Given the description of an element on the screen output the (x, y) to click on. 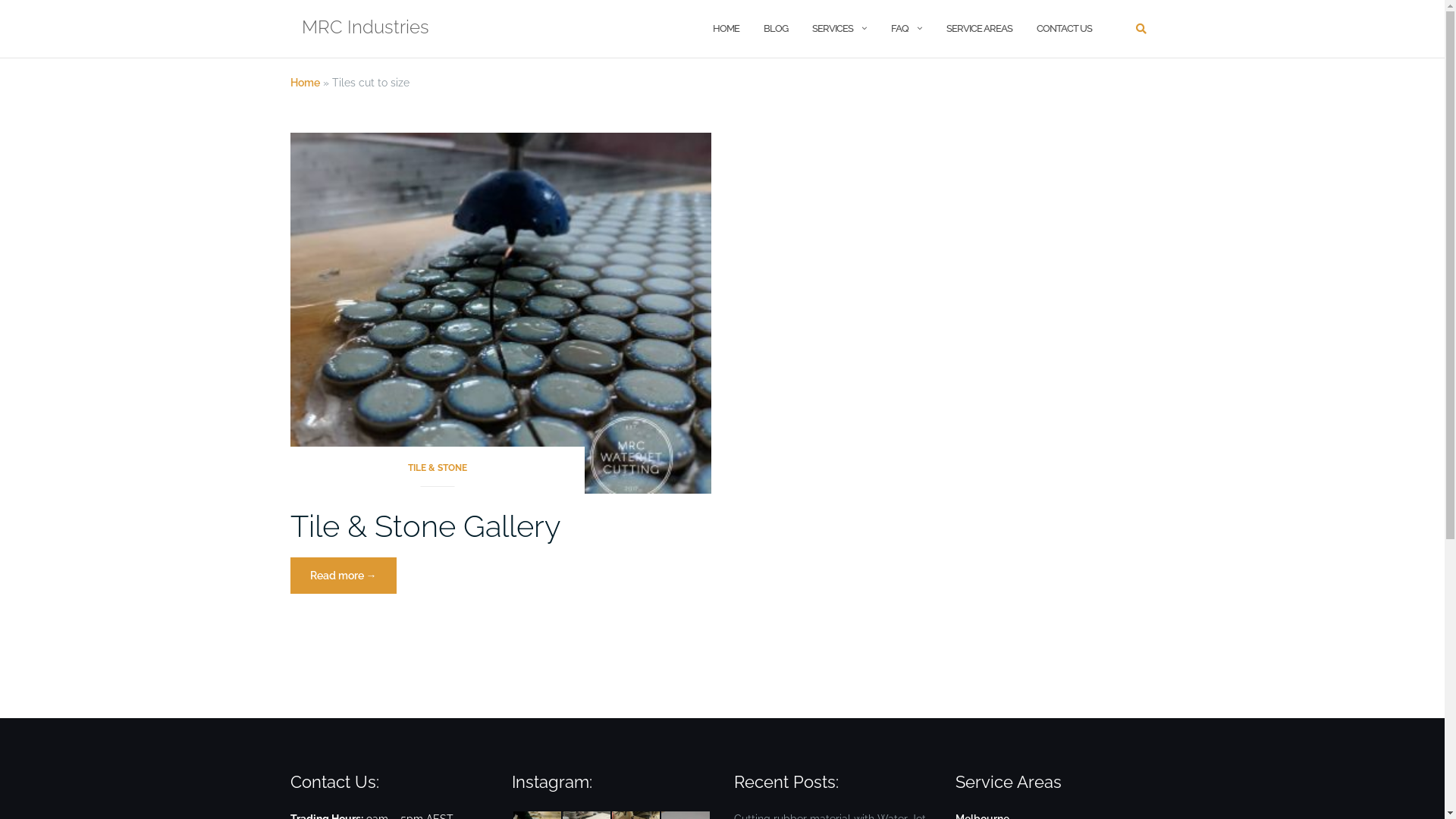
SERVICE AREAS Element type: text (979, 28)
HOME Element type: text (725, 28)
Tile & Stone Gallery Element type: text (424, 525)
FAQ Element type: text (898, 28)
Home Element type: text (304, 82)
CONTACT US Element type: text (1063, 28)
SERVICES Element type: text (831, 28)
BLOG Element type: text (774, 28)
MRC Industries Element type: text (365, 28)
TILE & STONE Element type: text (436, 472)
